Given the description of an element on the screen output the (x, y) to click on. 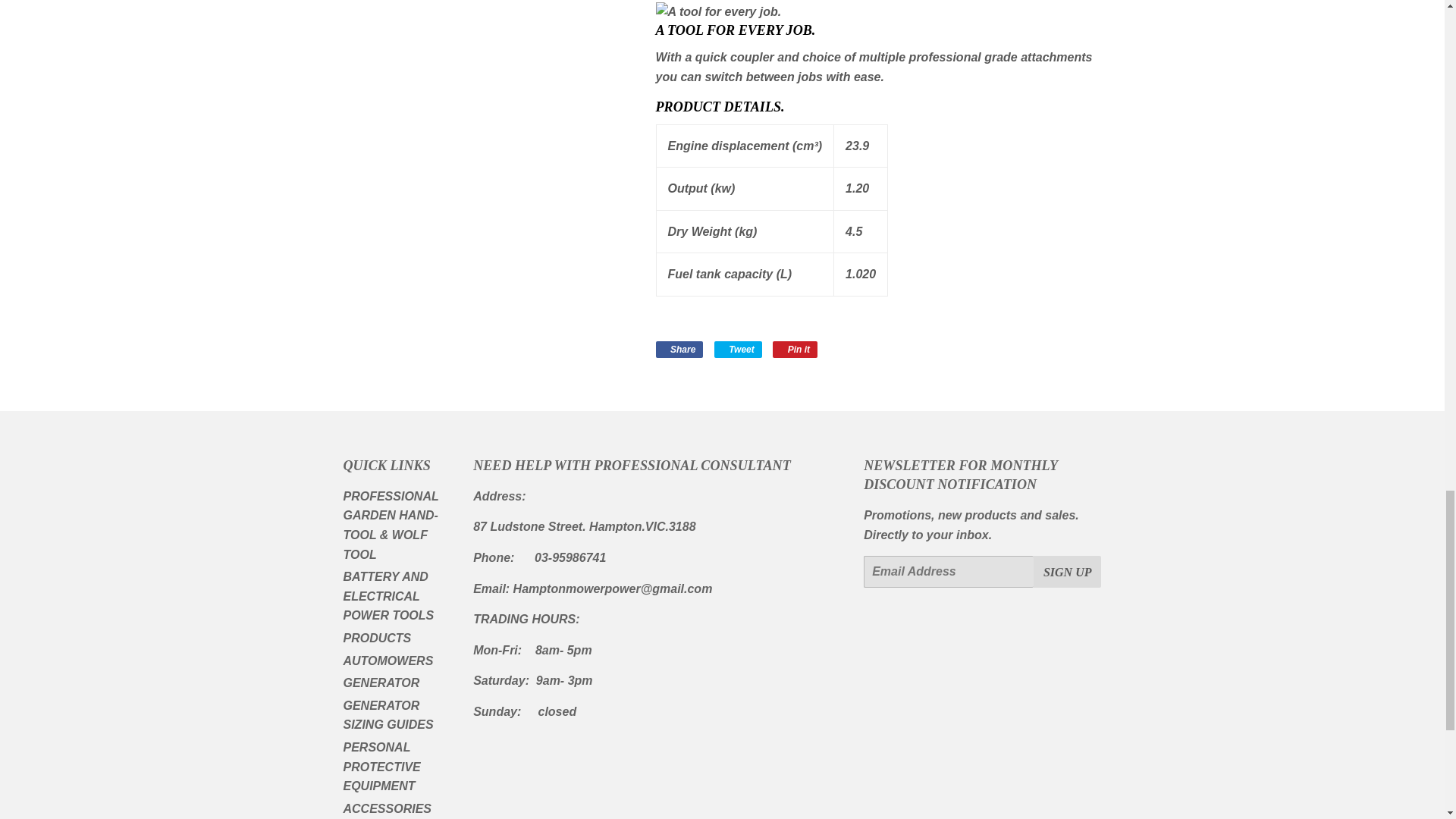
Pin on Pinterest (794, 349)
Share on Facebook (679, 349)
Tweet on Twitter (737, 349)
A tool for every job. (717, 12)
